Given the description of an element on the screen output the (x, y) to click on. 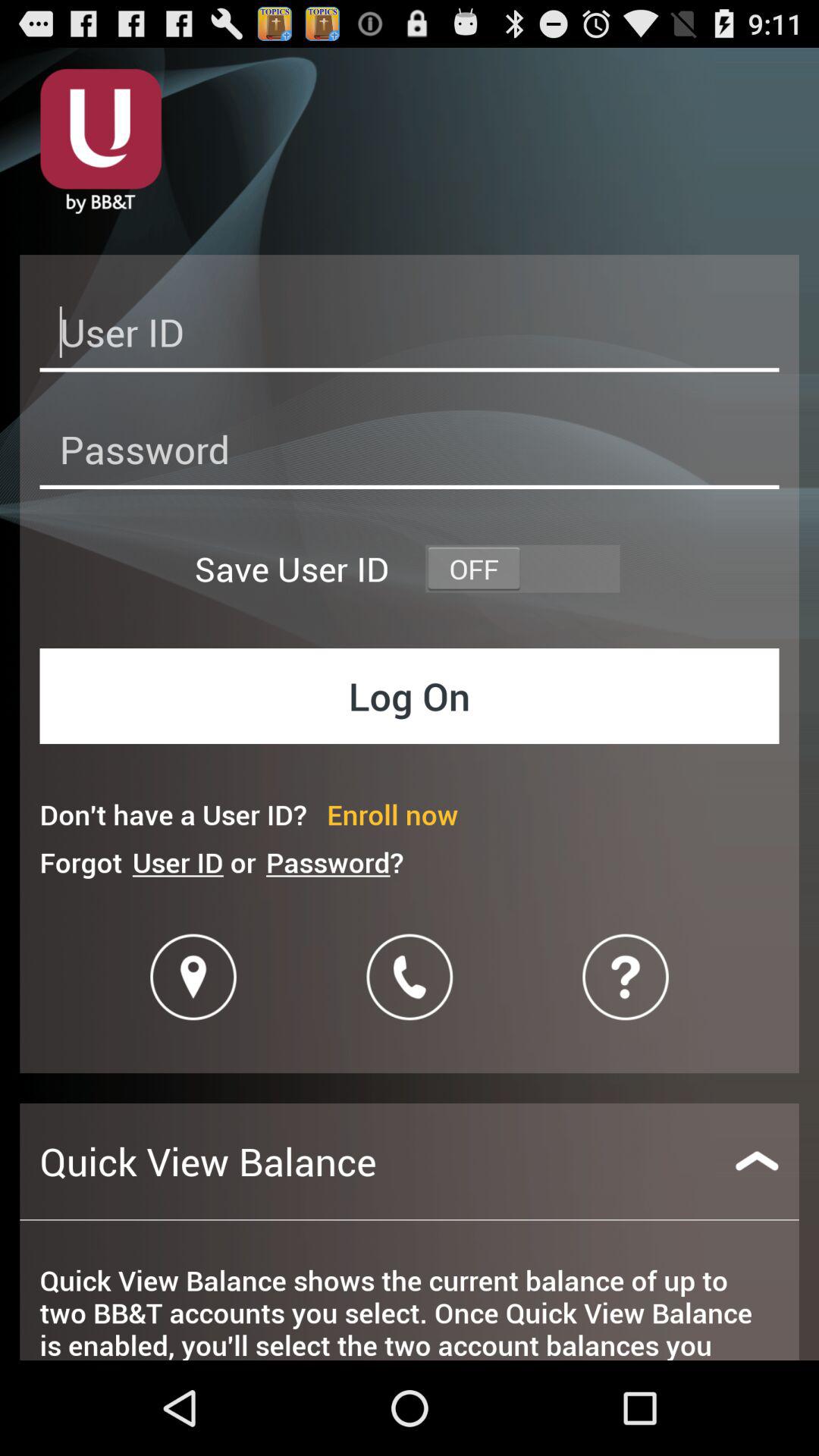
jump until log on button (409, 695)
